Given the description of an element on the screen output the (x, y) to click on. 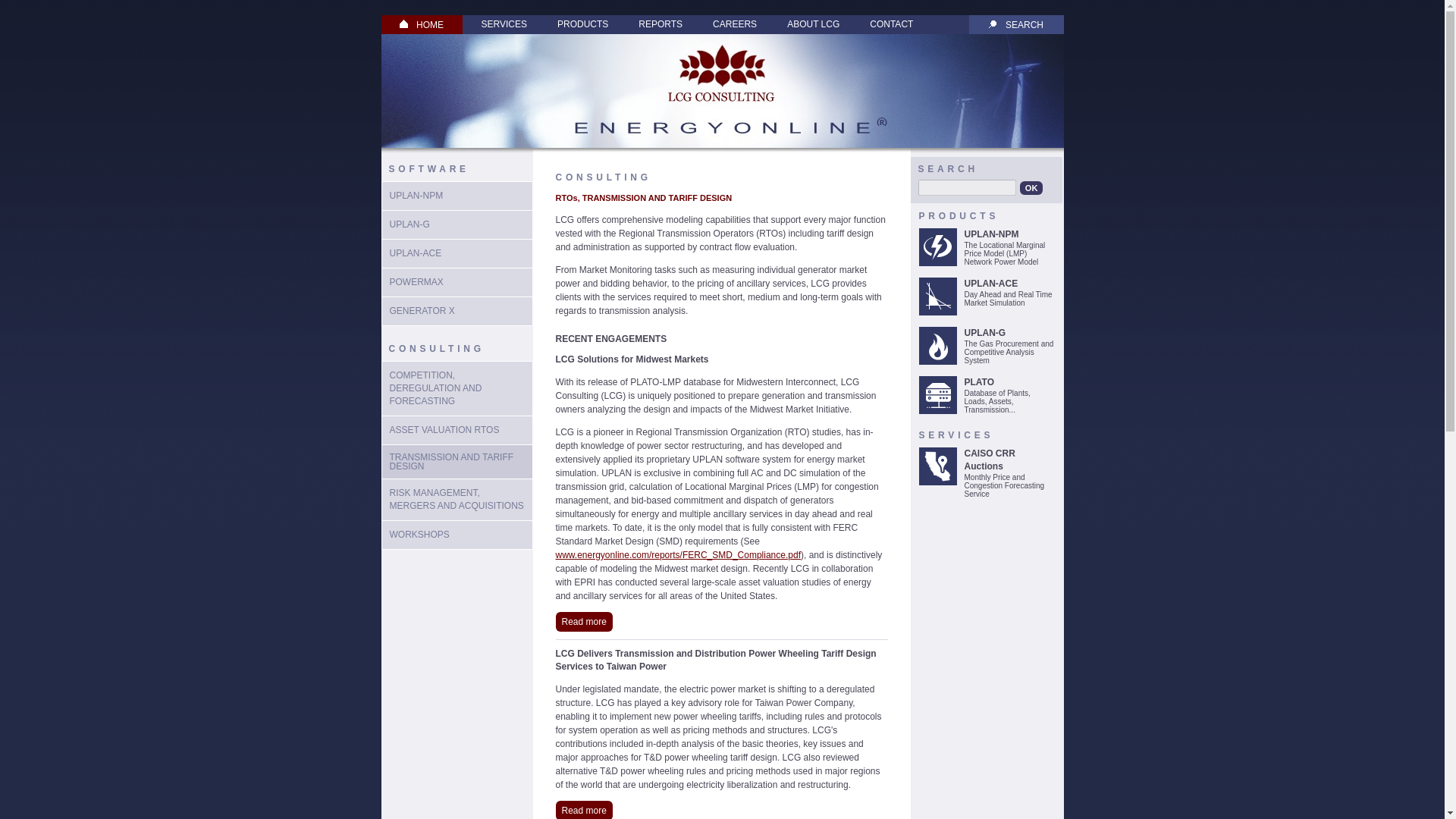
TRANSMISSION AND TARIFF DESIGN (451, 461)
PRODUCTS (582, 24)
Read more (582, 621)
SERVICES (503, 24)
SEARCH (1015, 24)
HOME (421, 24)
POWERMAX (417, 281)
OK (1031, 187)
PRODUCTS (958, 215)
CONTACT (890, 24)
GENERATOR X (422, 310)
UPLAN-G (409, 224)
UPLAN-ACE (416, 253)
COMPETITION, DEREGULATION AND FORECASTING (435, 388)
REPORTS (660, 24)
